Given the description of an element on the screen output the (x, y) to click on. 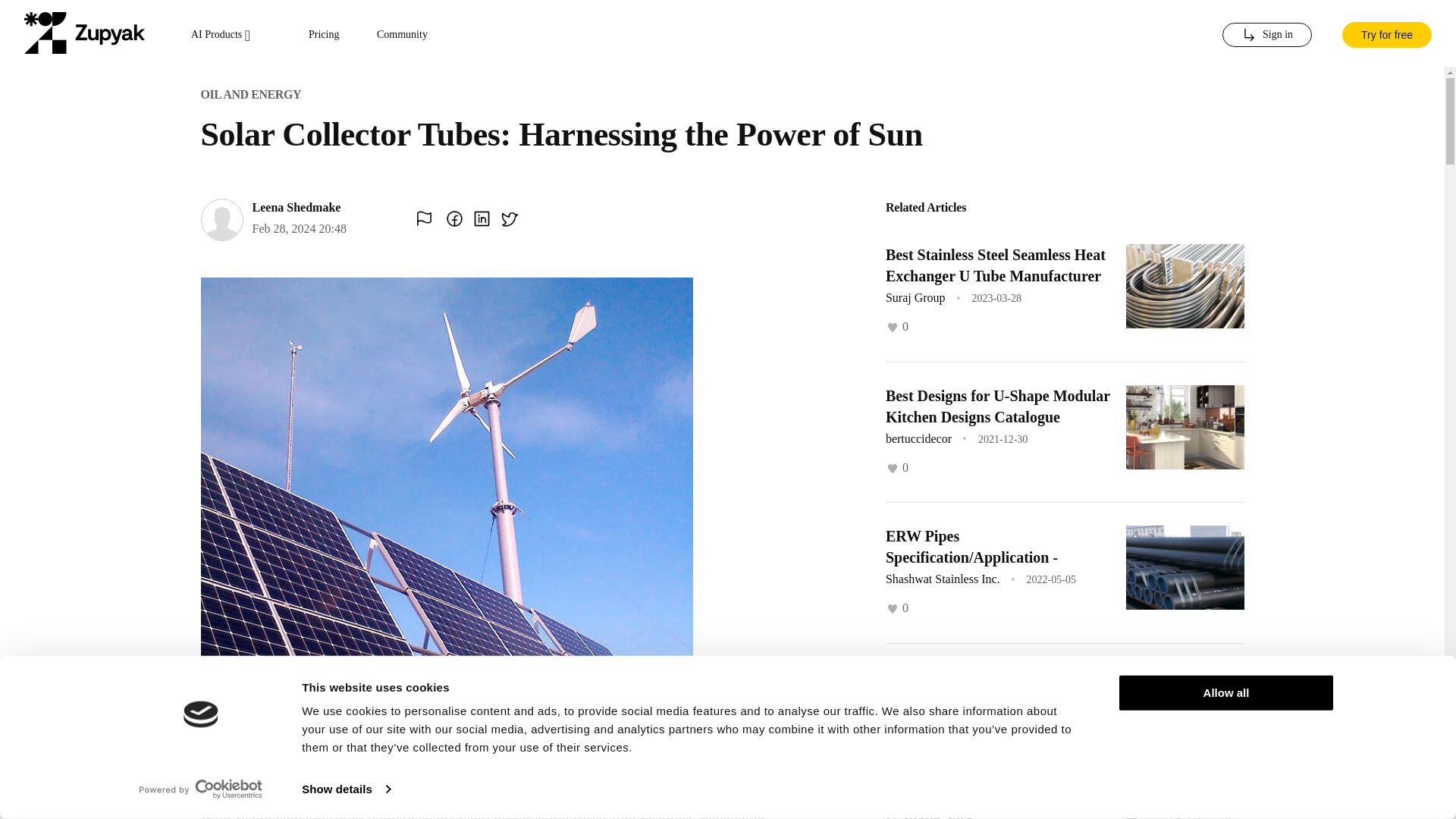
U Shape Sofa (928, 814)
Best Designs for U-Shape Modular Kitchen Designs Catalogue (997, 405)
Show details (345, 789)
Get the Best Solar Collector Systems from Viessmann (975, 687)
